Given the description of an element on the screen output the (x, y) to click on. 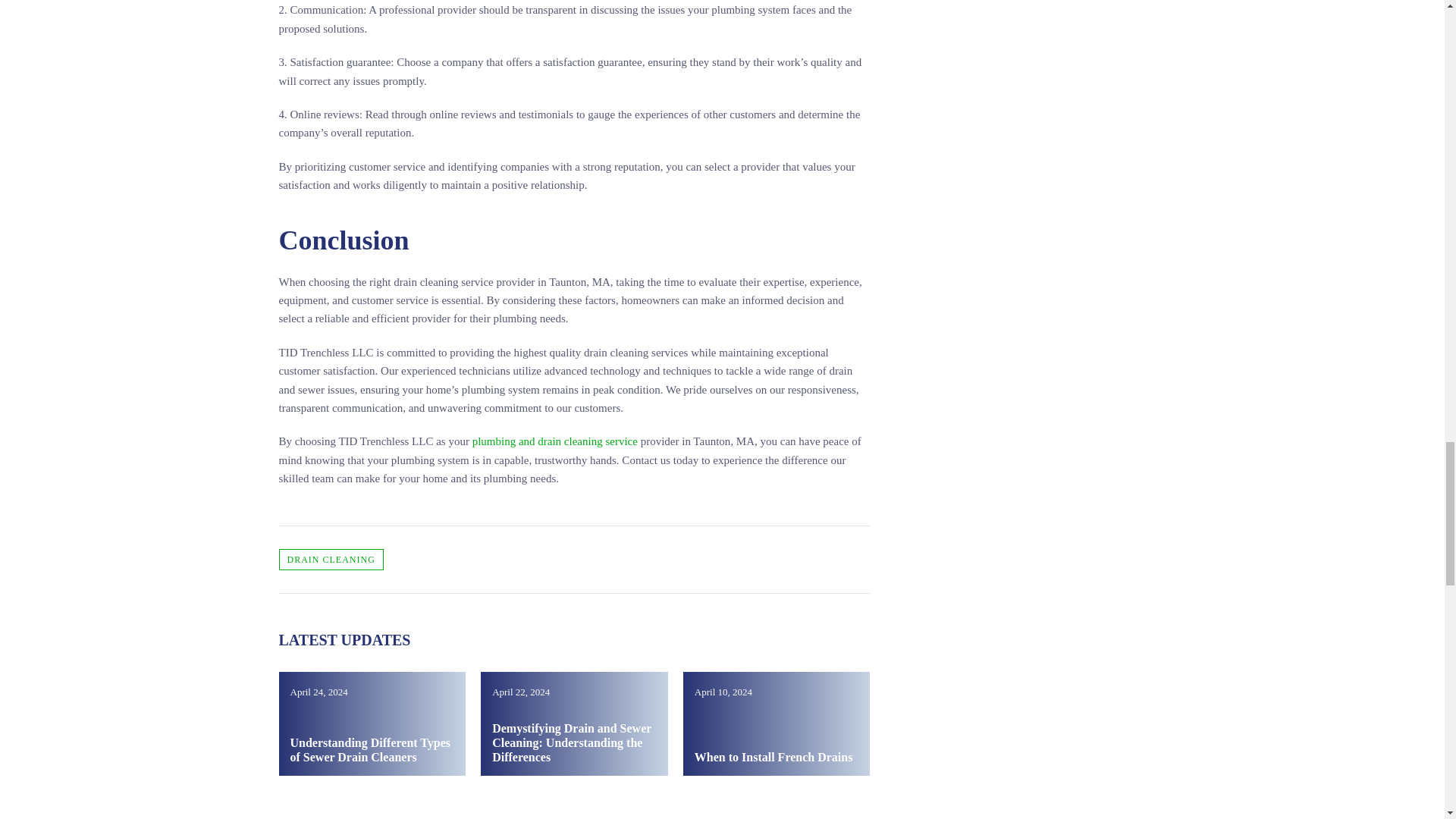
Understanding Different Types of Sewer Drain Cleaners (372, 723)
April 22, 2024 (574, 723)
plumbing and drain cleaning service (554, 440)
April 10, 2024 (776, 723)
April 24, 2024 (372, 723)
DRAIN CLEANING (331, 559)
When to Install French Drains (773, 757)
When to Install French Drains (776, 723)
